Given the description of an element on the screen output the (x, y) to click on. 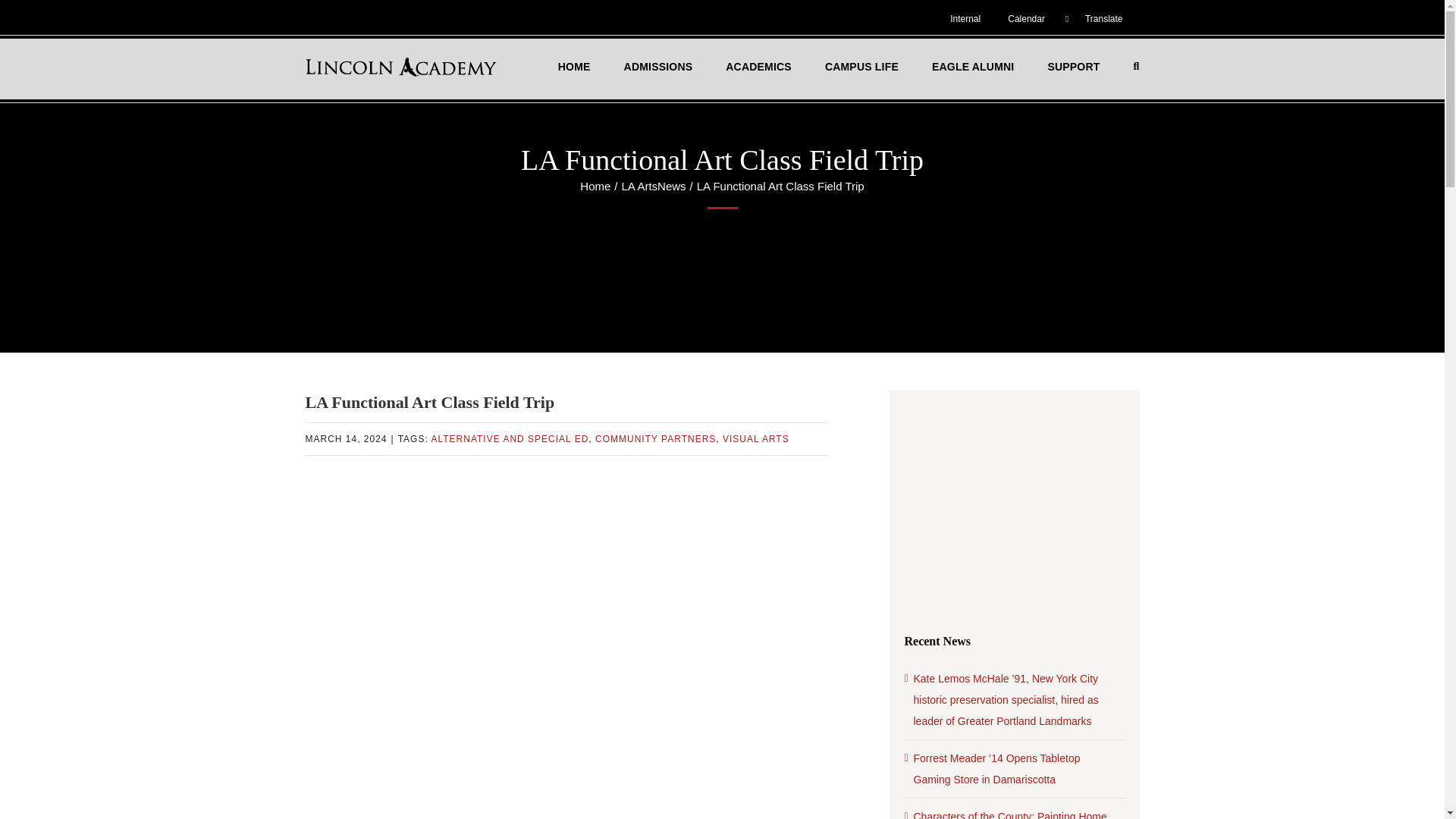
ADMISSIONS (662, 66)
Calendar (1025, 18)
Internal (968, 18)
Translate (1097, 18)
